Given the description of an element on the screen output the (x, y) to click on. 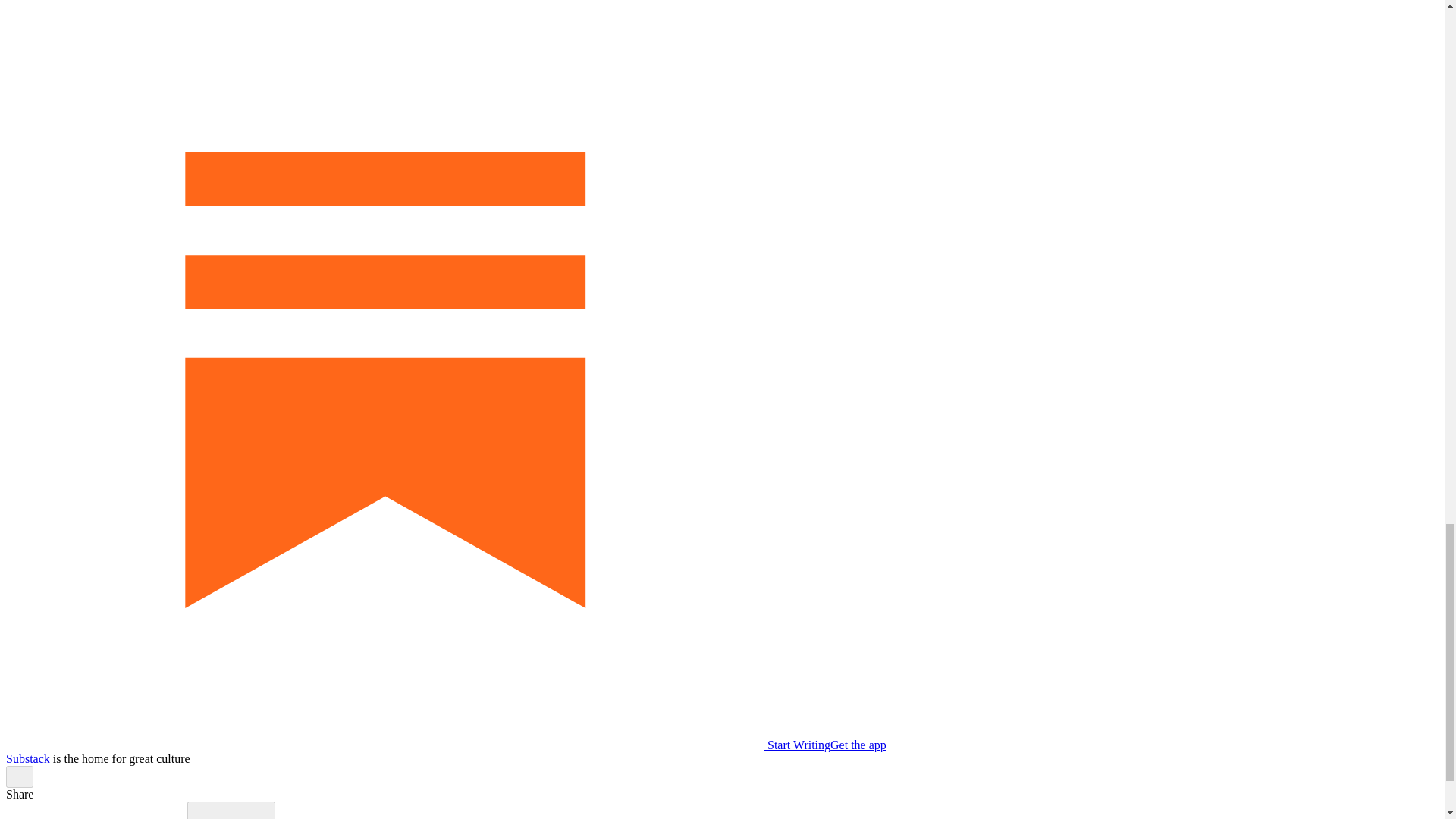
Substack (27, 758)
Get the app (857, 744)
Start Writing (417, 744)
